Given the description of an element on the screen output the (x, y) to click on. 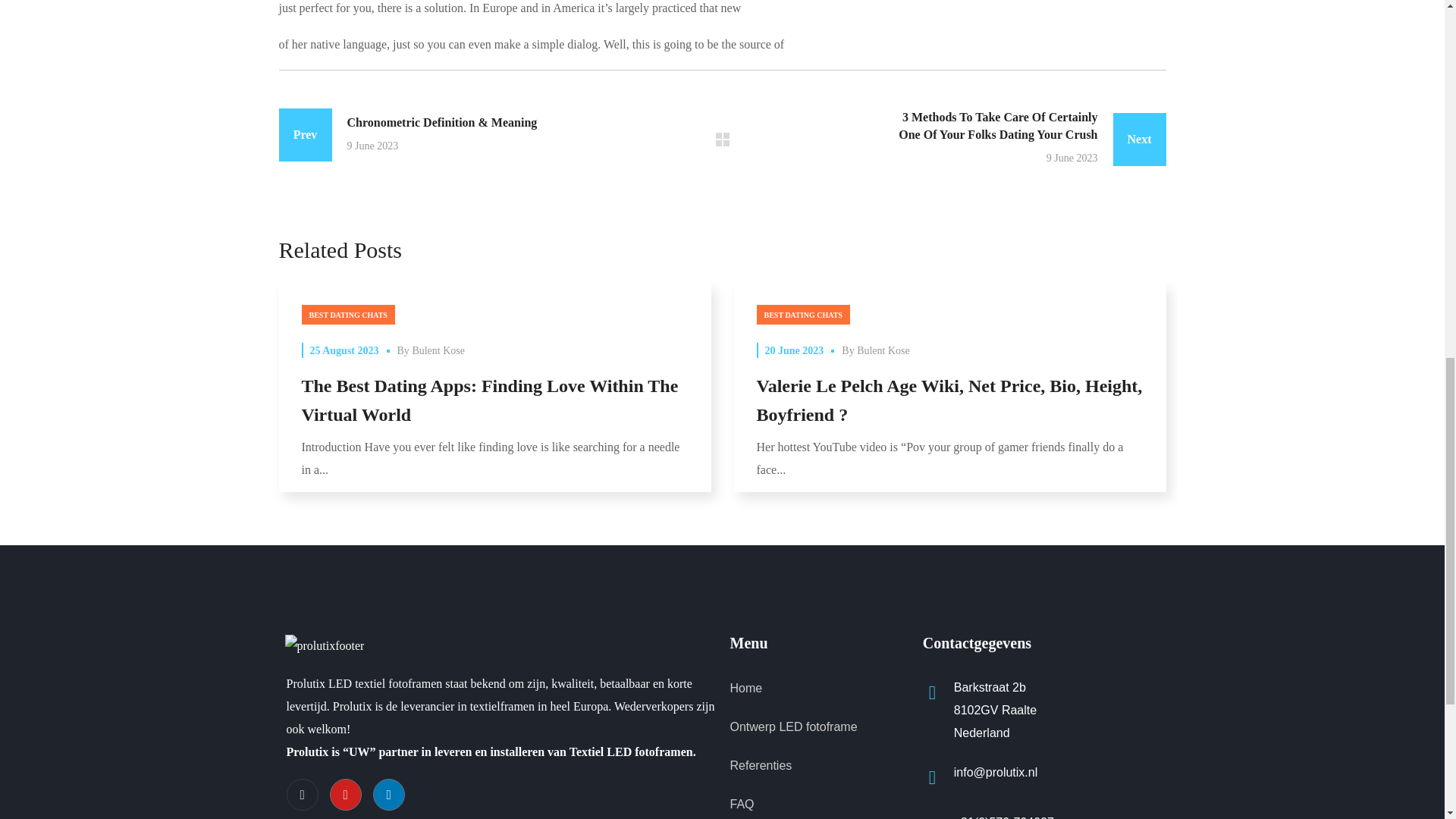
Facebook (302, 794)
Back to previous page (722, 139)
Youtube (345, 794)
Linkedin (388, 794)
prolutixfooter (325, 645)
